Given the description of an element on the screen output the (x, y) to click on. 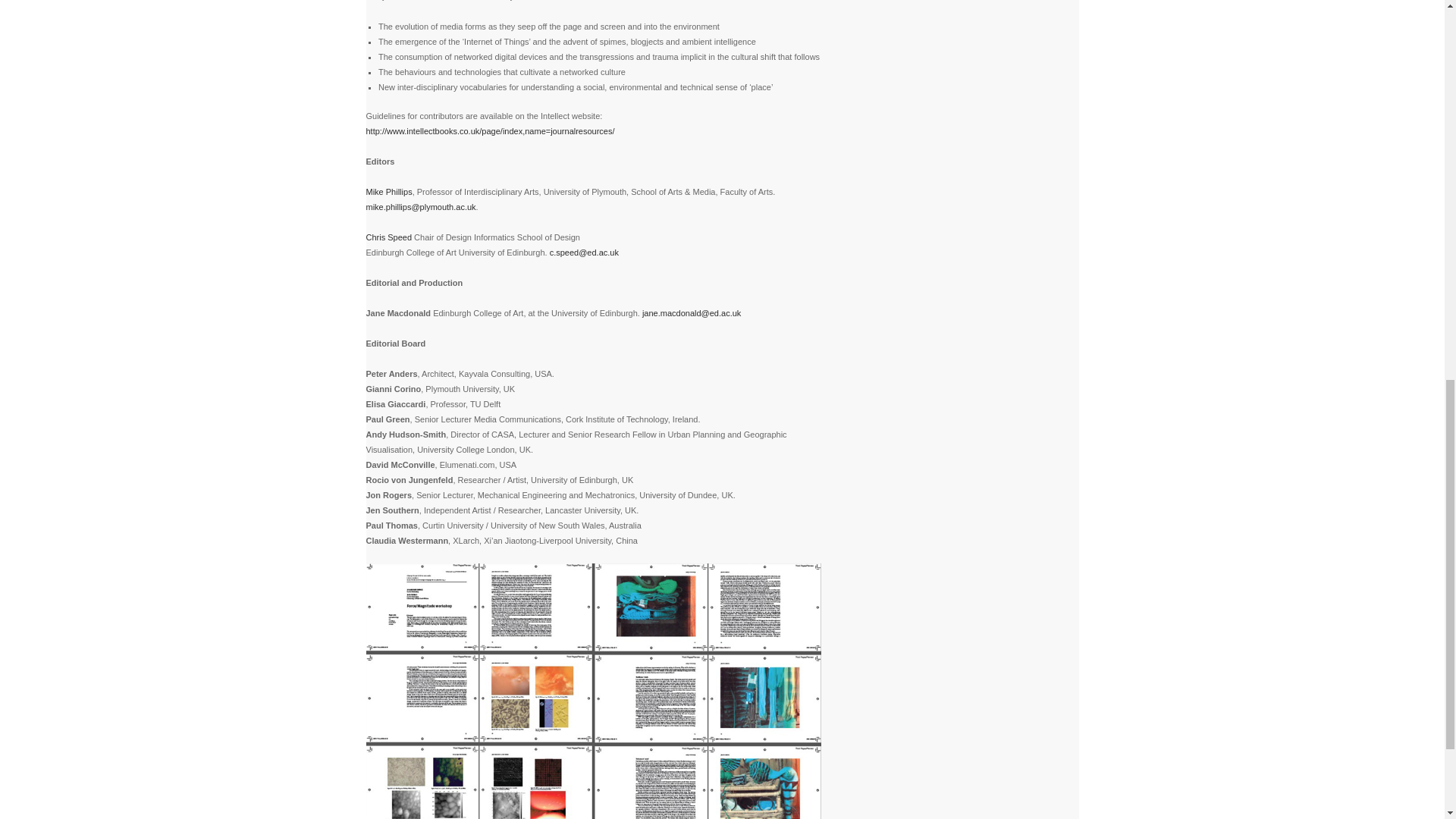
Chris Speed (388, 236)
Mike Phillips (388, 191)
articles (593, 691)
Mike Phillips (388, 191)
